Given the description of an element on the screen output the (x, y) to click on. 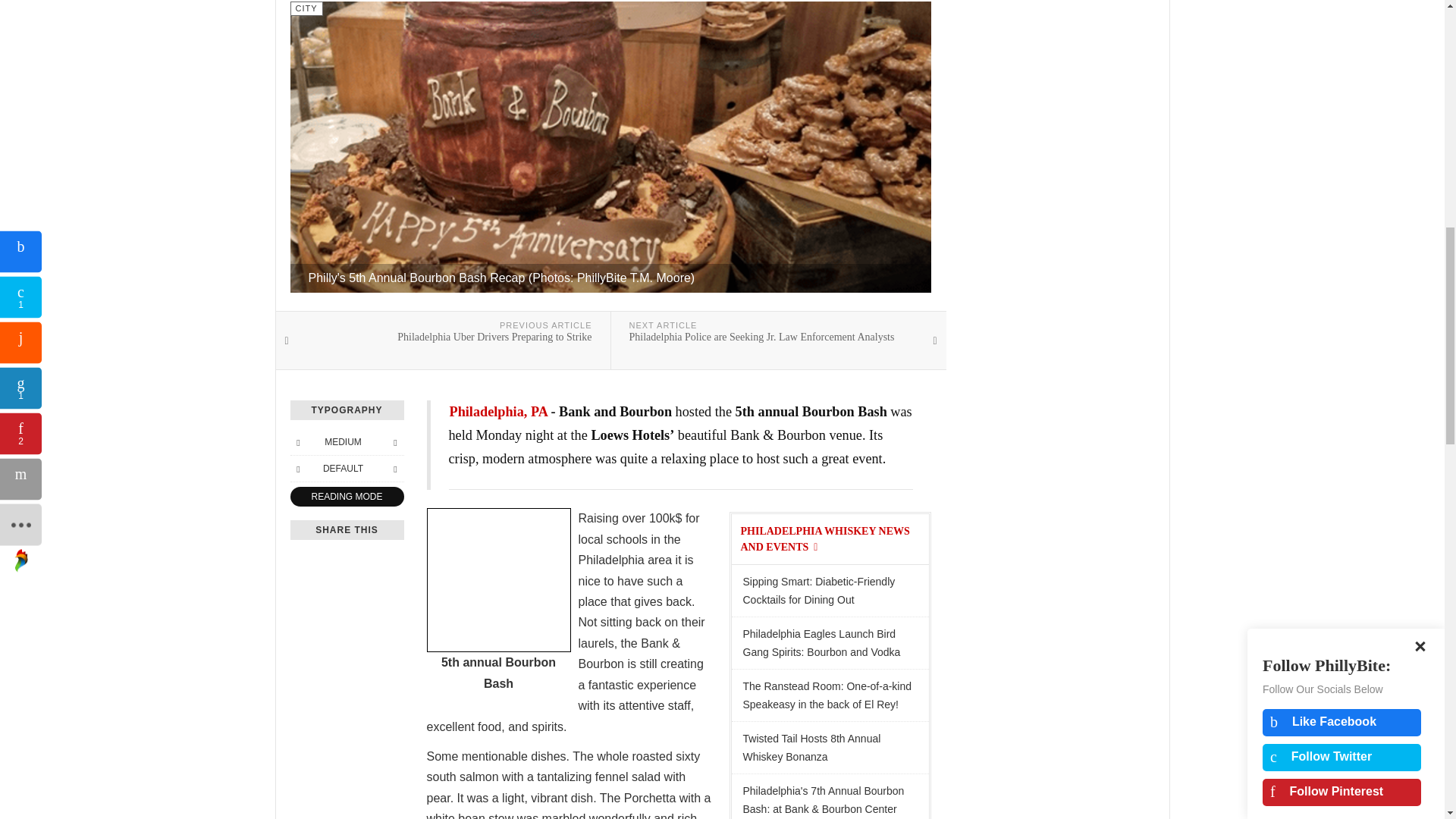
Previous Font Style (297, 468)
Next Font Style (395, 468)
Smaller Font (297, 442)
Category:  (305, 8)
Twisted Tail Hosts 8th Annual Whiskey Bonanza (829, 747)
Articles about the Topic (823, 538)
CITY (305, 8)
Sipping Smart: Diabetic-Friendly Cocktails for Dining Out (829, 590)
Bigger Font (395, 442)
Reading Mode (346, 496)
